Given the description of an element on the screen output the (x, y) to click on. 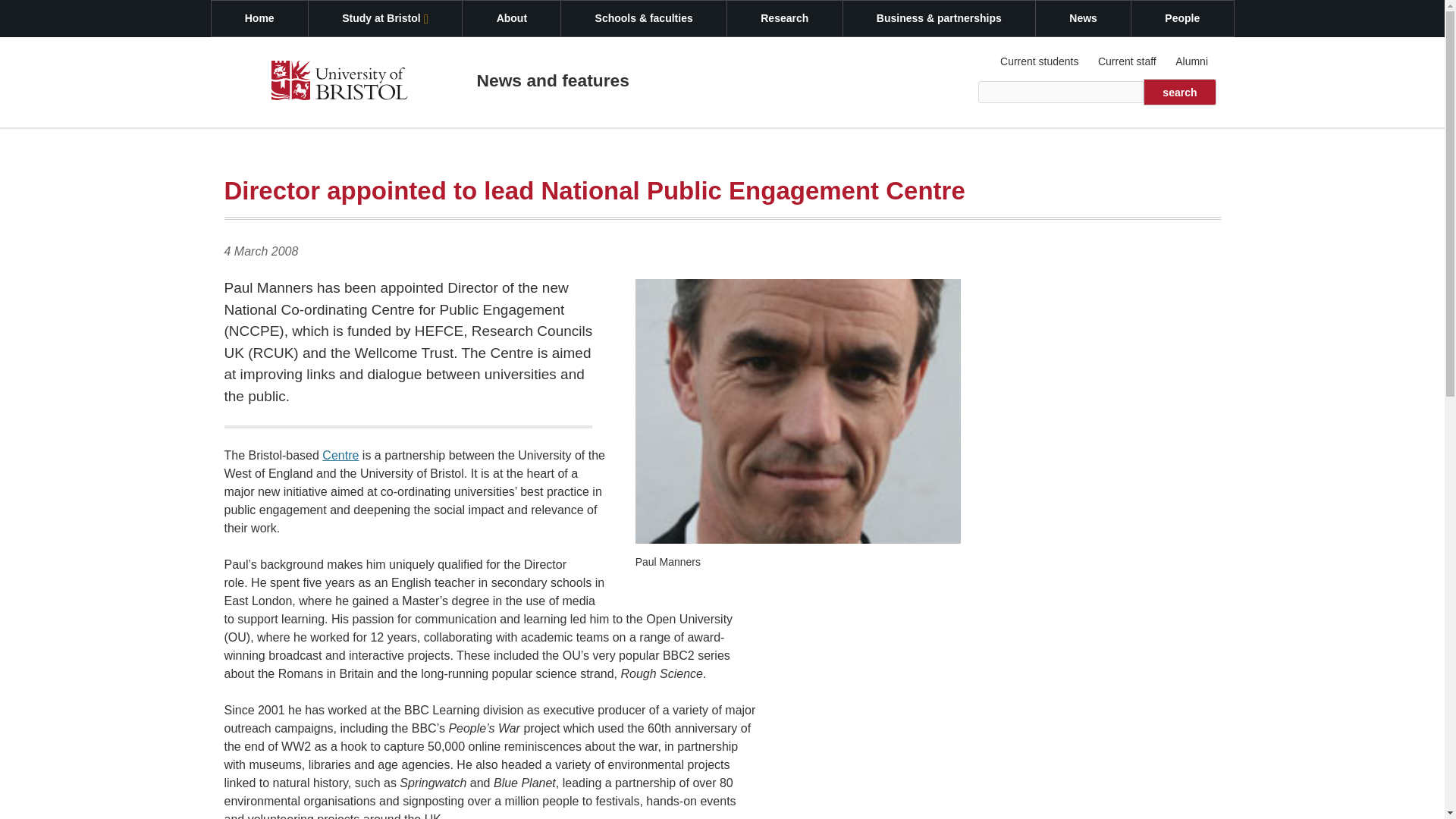
search (1178, 91)
Study at Bristol (384, 18)
News and features (552, 80)
News (1083, 18)
Home (259, 18)
search (1178, 91)
Alumni (1191, 61)
enter search keywords (1061, 92)
Current staff (1126, 61)
About (511, 18)
